Given the description of an element on the screen output the (x, y) to click on. 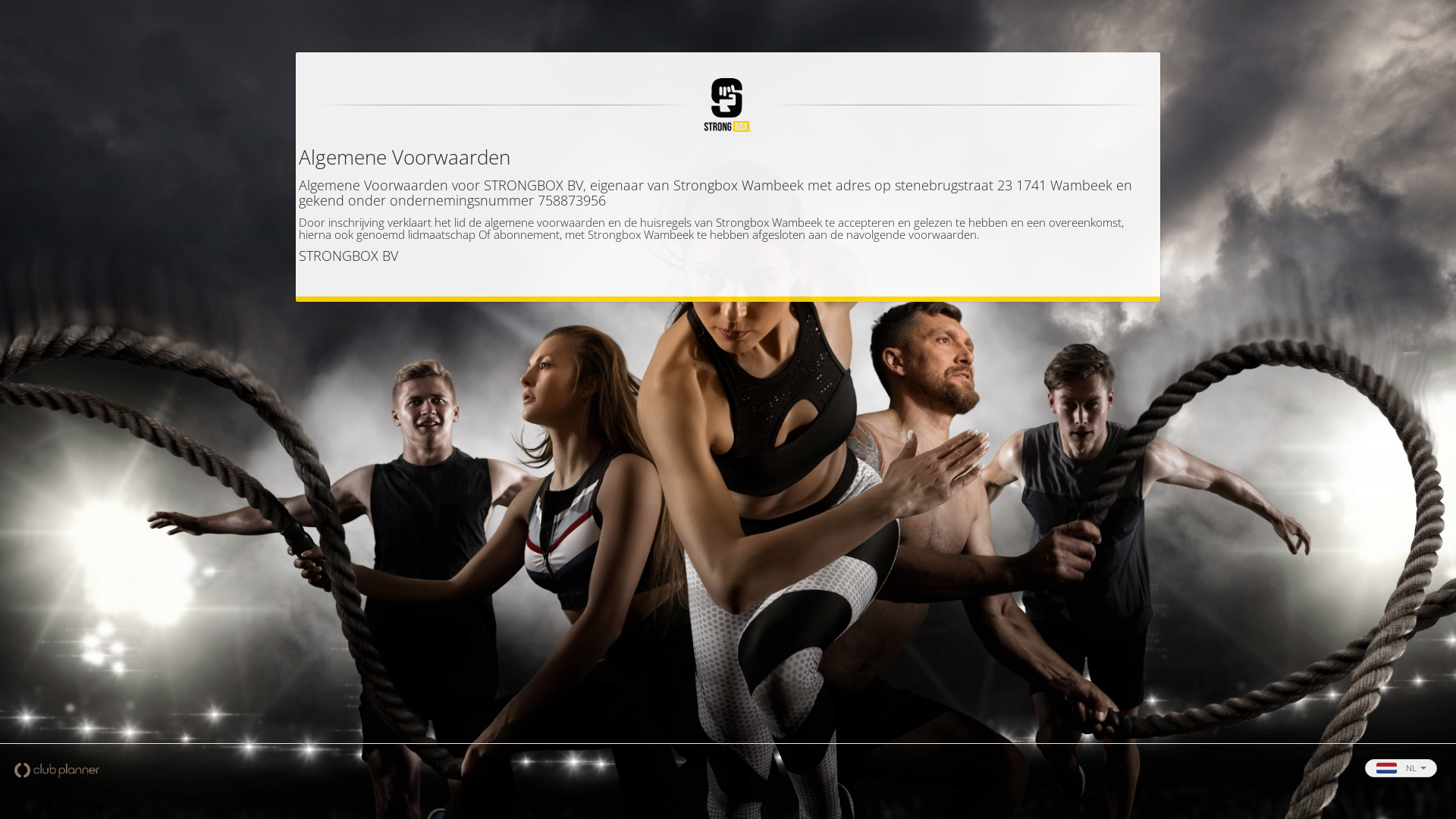
NL Element type: text (1401, 768)
